Given the description of an element on the screen output the (x, y) to click on. 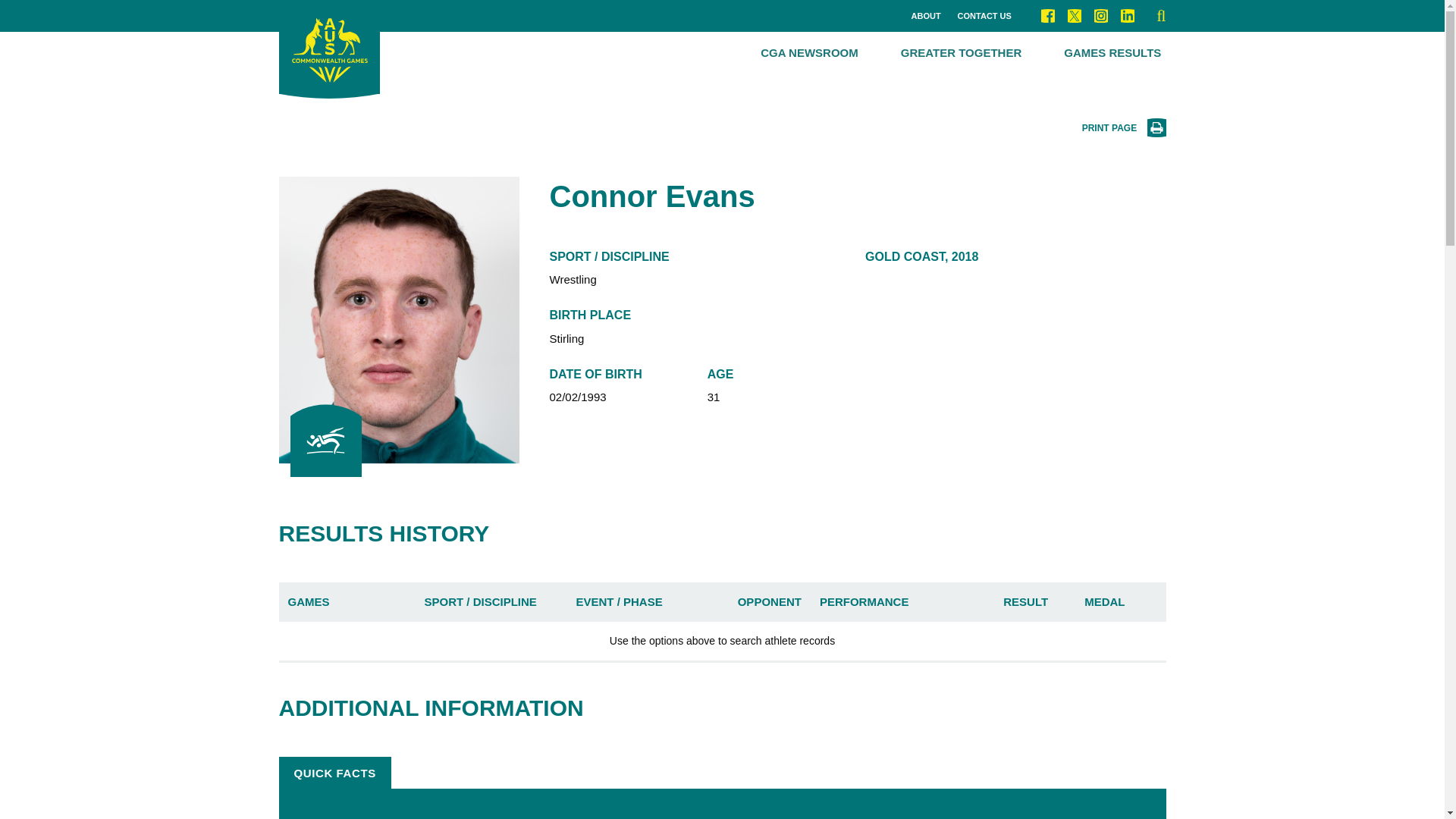
CONTACT US (984, 16)
Commonwealth Games Australia (329, 49)
QUICK FACTS (335, 772)
ABOUT (925, 16)
CGA NEWSROOM (809, 52)
GREATER TOGETHER (961, 52)
GAMES RESULTS (1111, 52)
PRINT PAGE (1123, 128)
